Given the description of an element on the screen output the (x, y) to click on. 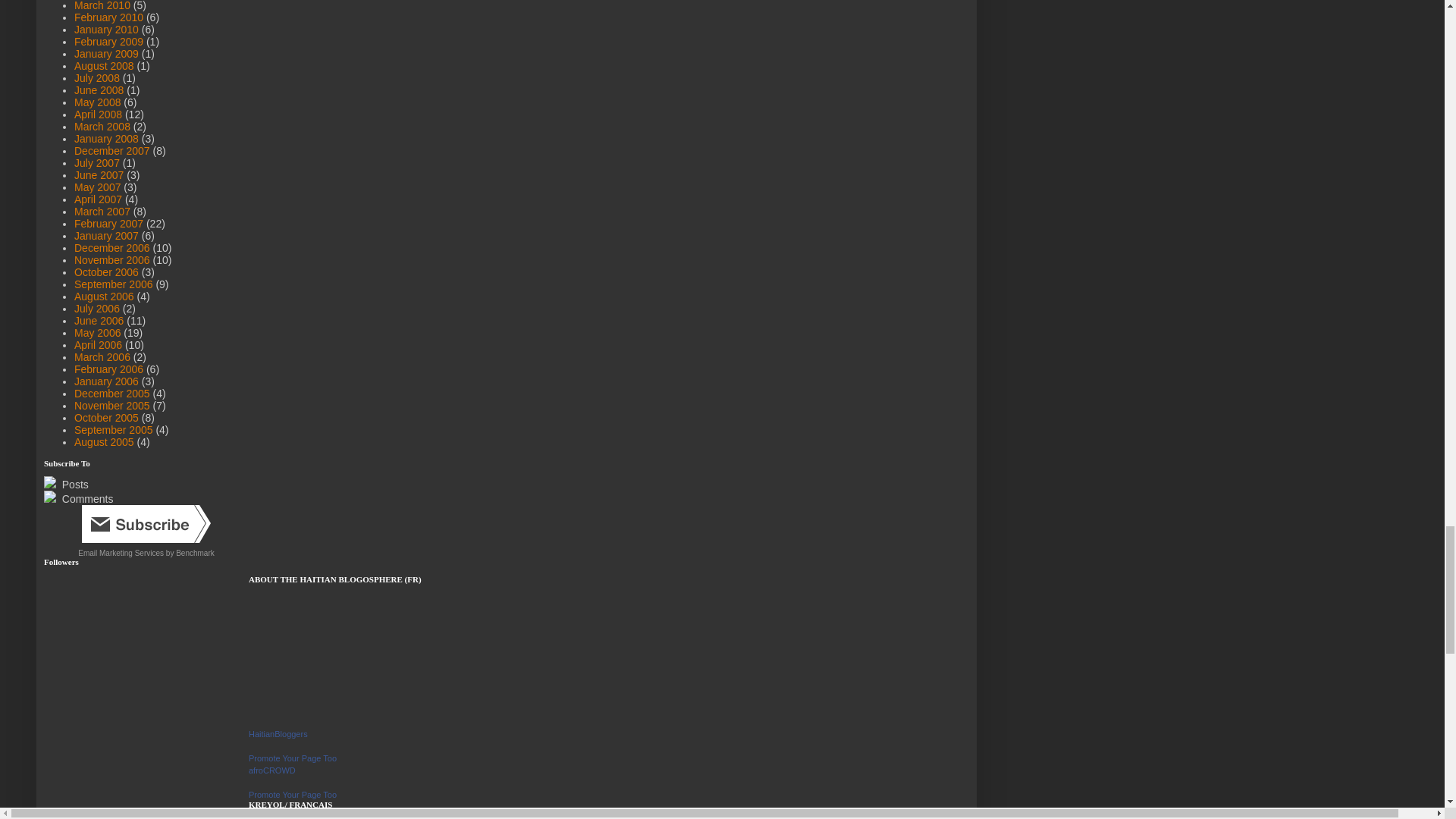
Make your own badge! (292, 794)
Make your own badge! (292, 757)
afroCROWD (271, 769)
HaitianBloggers (277, 733)
